Given the description of an element on the screen output the (x, y) to click on. 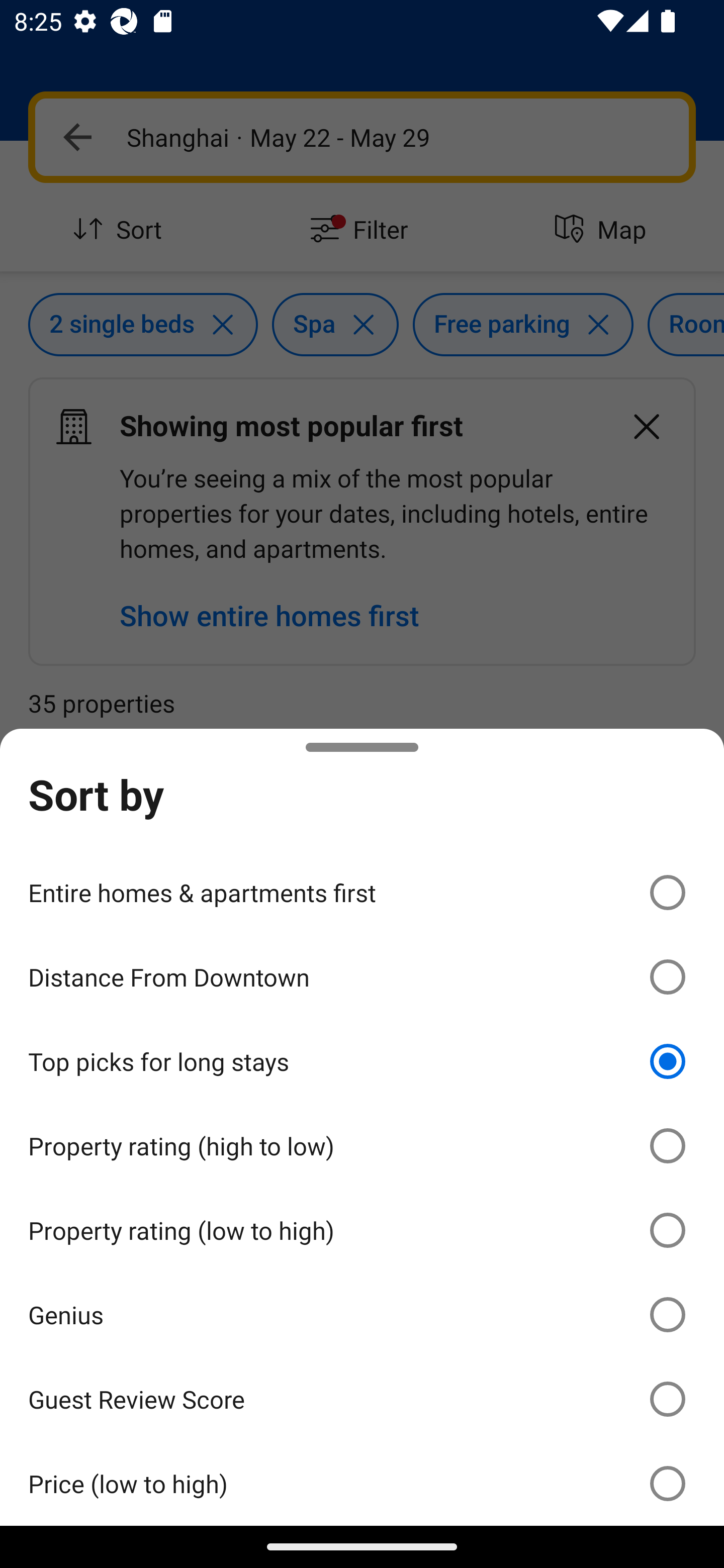
Entire homes & apartments first (362, 891)
Distance From Downtown (362, 976)
Top picks for long stays (362, 1061)
Property rating (high to low) (362, 1145)
Property rating (low to high) (362, 1230)
Genius (362, 1314)
Guest Review Score (362, 1398)
Price (low to high) (362, 1482)
